Given the description of an element on the screen output the (x, y) to click on. 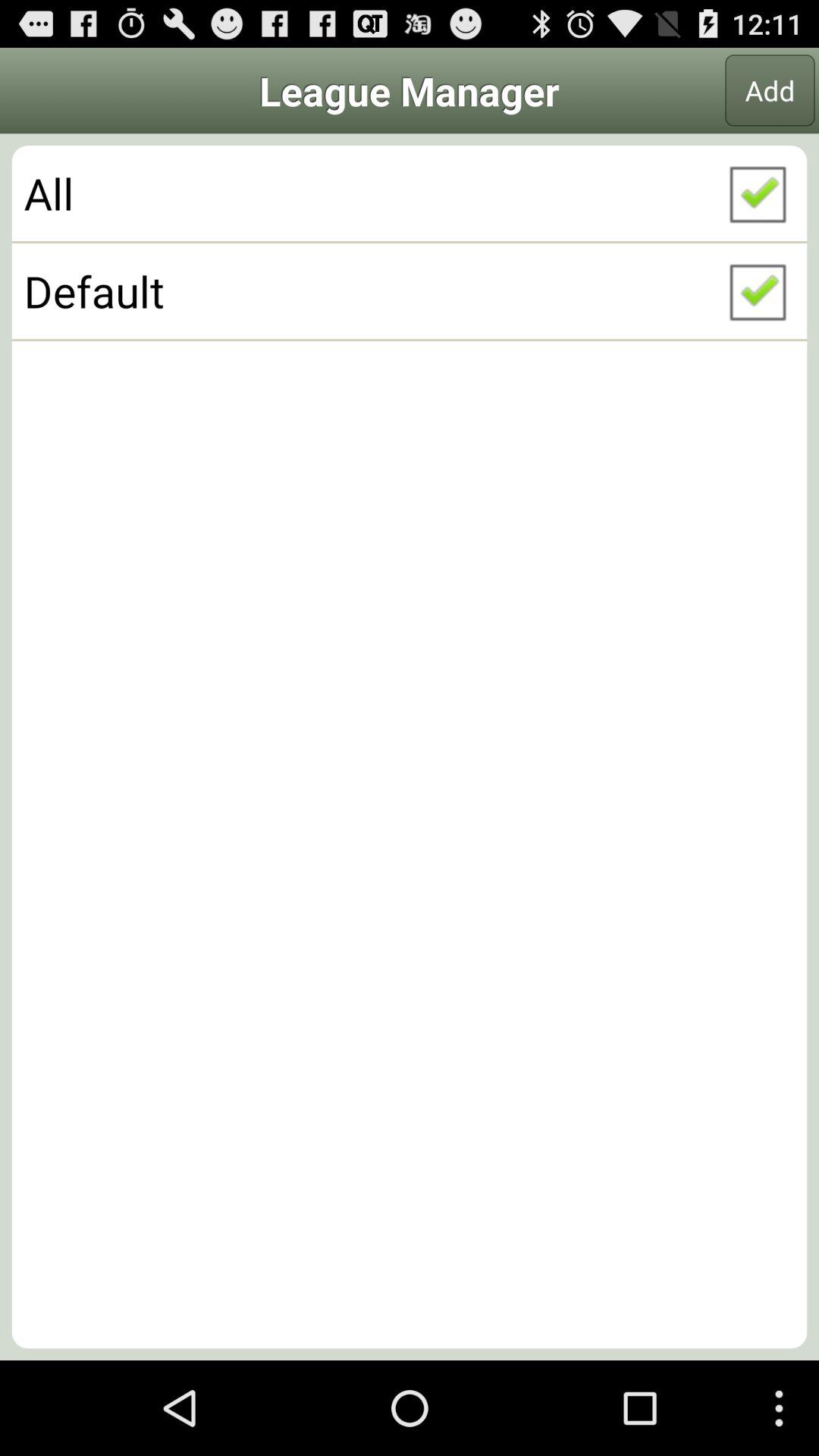
turn off the icon above the default checkbox (409, 193)
